Given the description of an element on the screen output the (x, y) to click on. 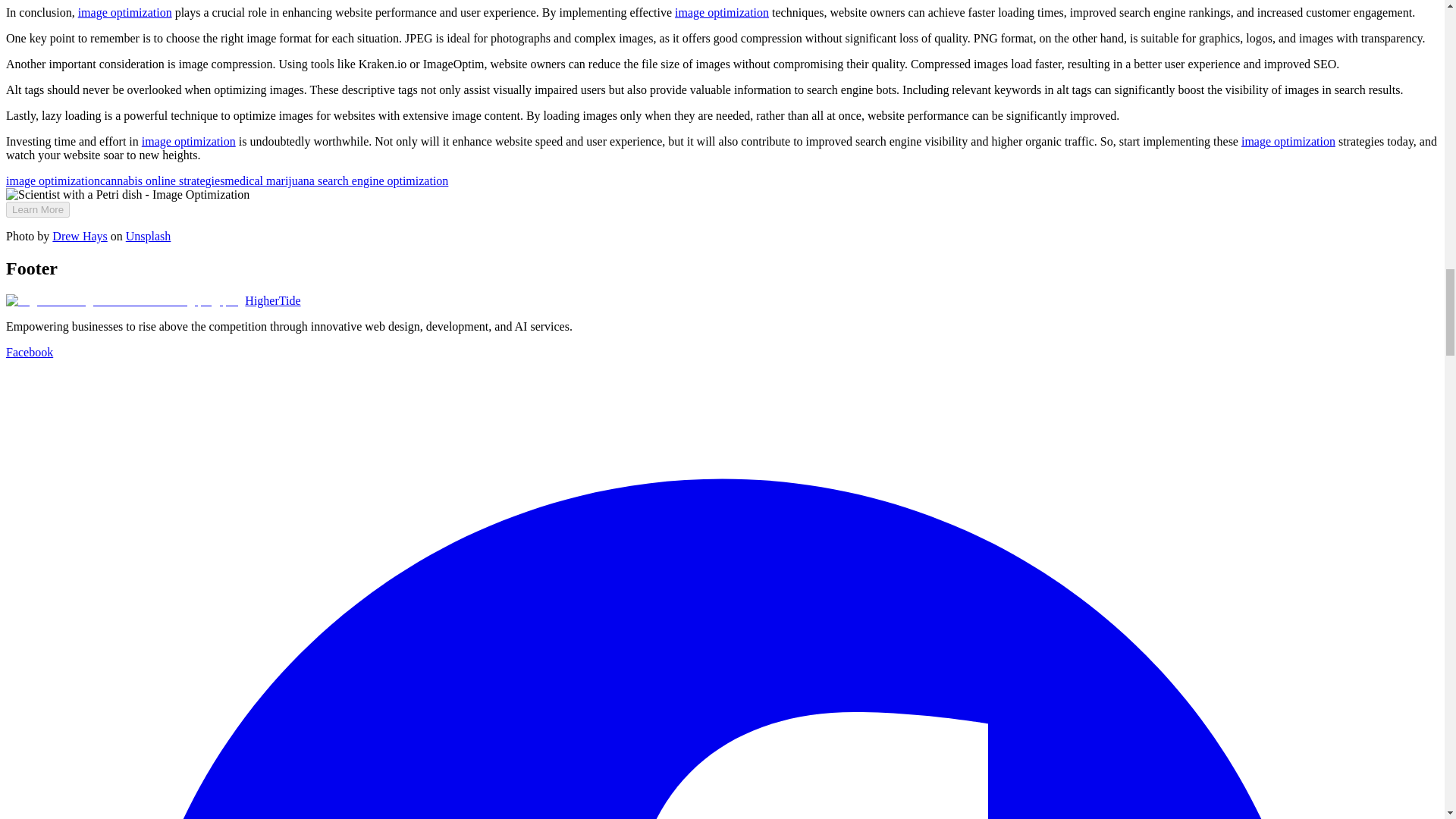
image optimization (188, 141)
Drew Hays (79, 236)
image optimization (721, 11)
Learn More (37, 209)
image optimization (1288, 141)
medical marijuana search engine optimization (336, 180)
image optimization (52, 180)
cannabis online strategies (162, 180)
image optimization (124, 11)
Unsplash (148, 236)
